Given the description of an element on the screen output the (x, y) to click on. 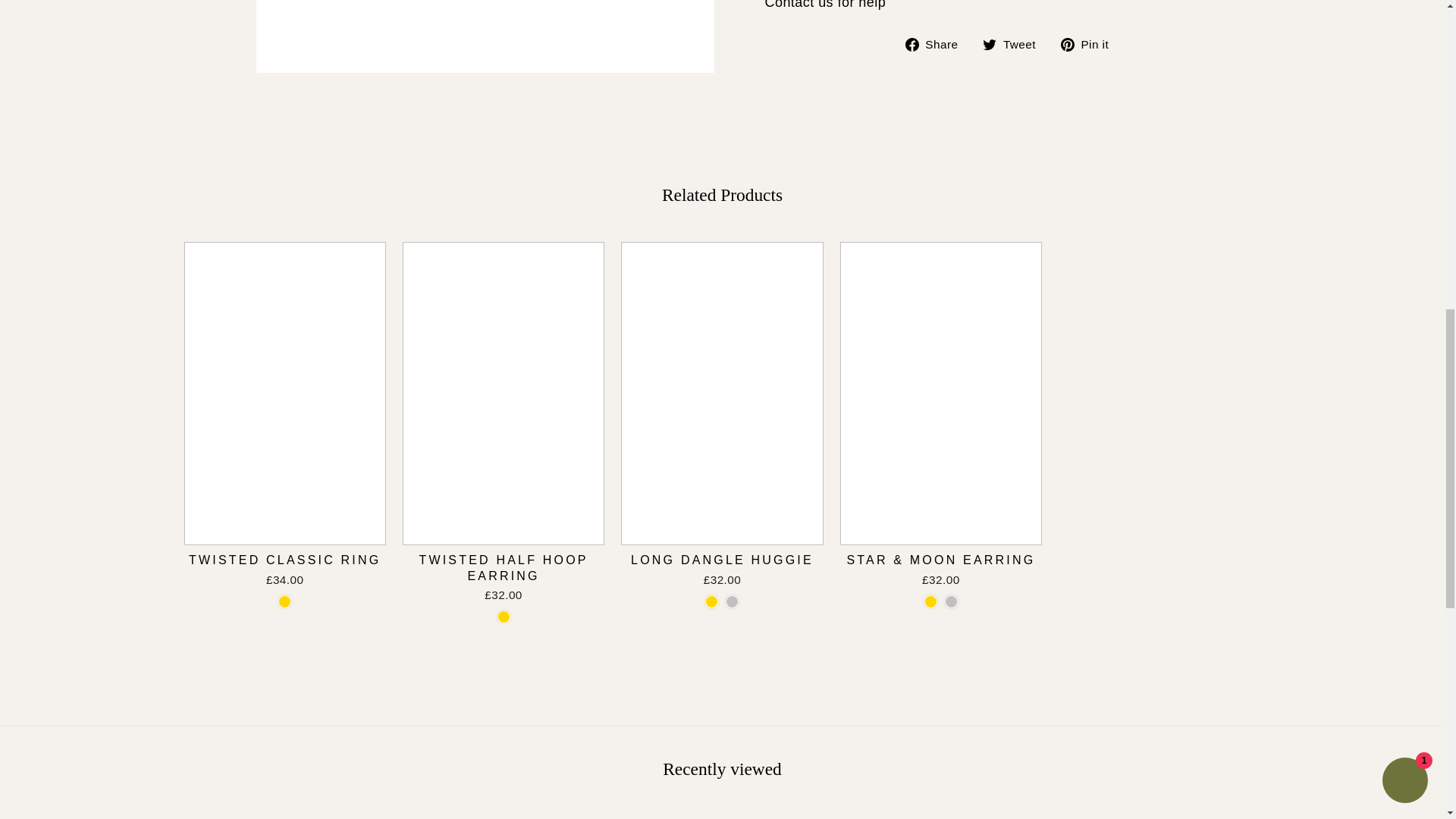
Pin on Pinterest (1090, 44)
Share on Facebook (937, 44)
Tweet on Twitter (1014, 44)
